Given the description of an element on the screen output the (x, y) to click on. 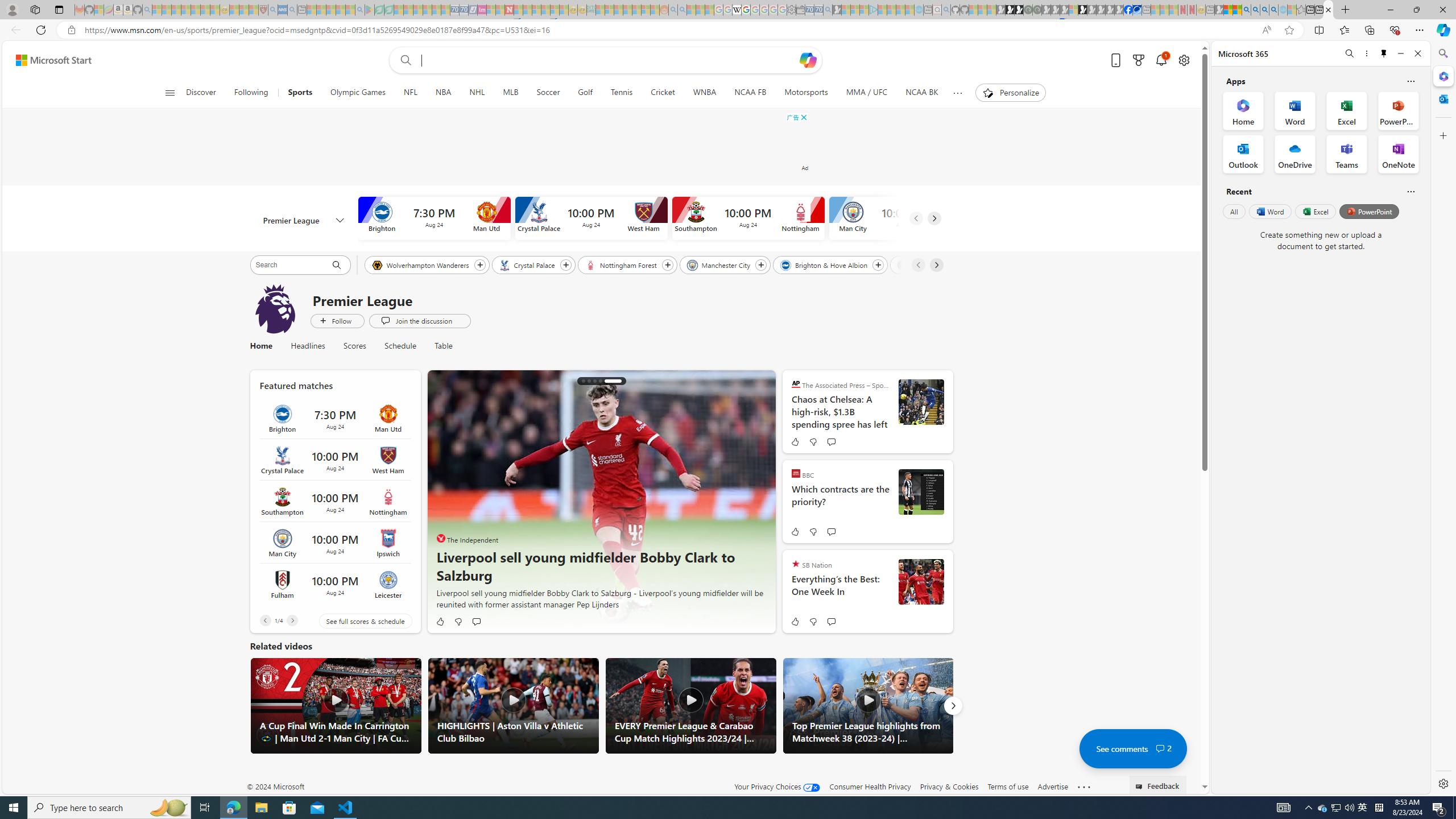
Class: around-the-league-card (334, 584)
Class: feedback_link_icon-DS-EntryPoint1-1 (1140, 786)
Outlook Office App (1243, 154)
Leicester City (925, 264)
Premier League (303, 220)
Previous (264, 620)
Word Office App (1295, 110)
Like (793, 621)
Brighton vs Man Utd Time 7:30 PM Date Aug 24 (334, 418)
